Given the description of an element on the screen output the (x, y) to click on. 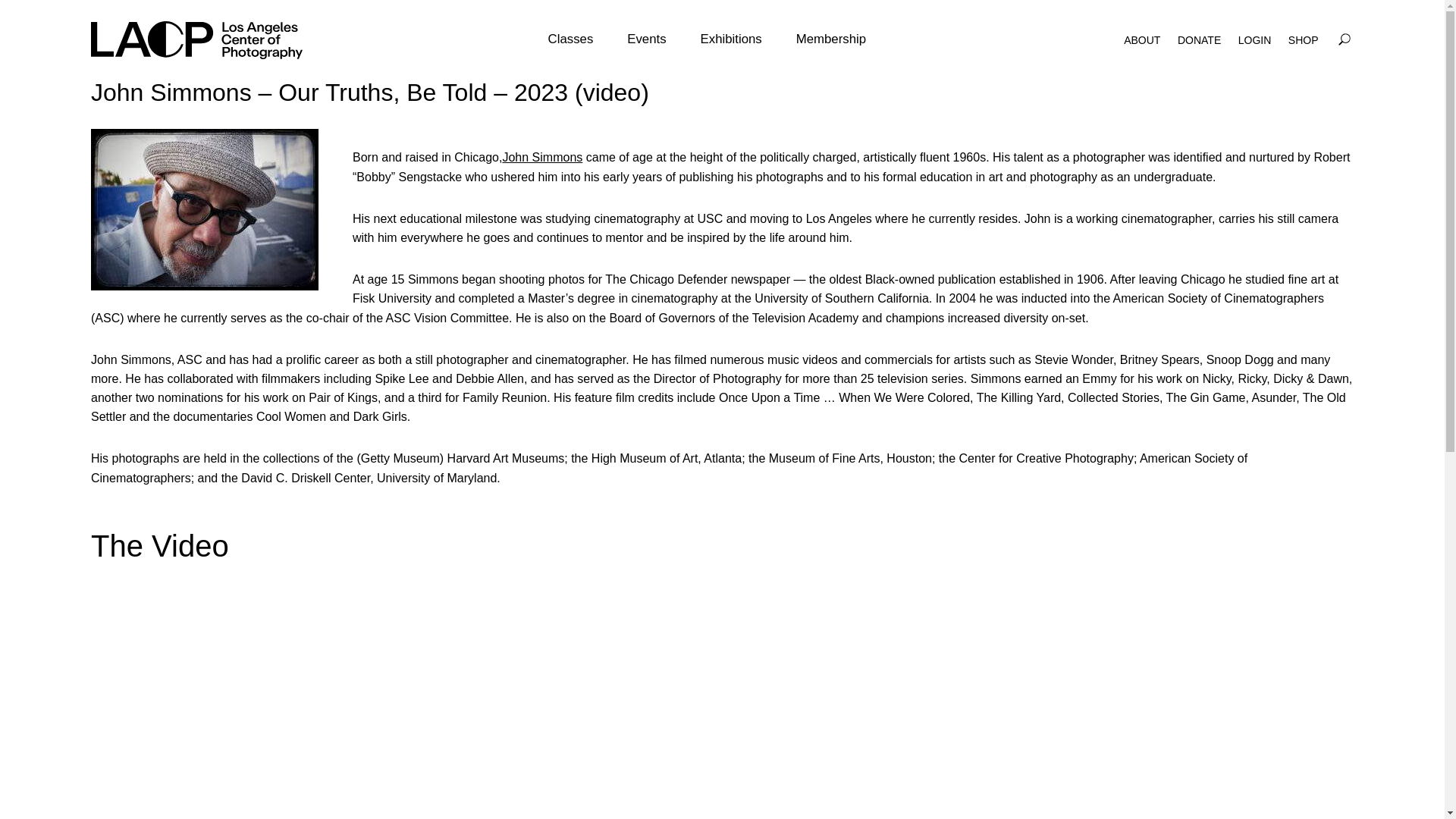
Membership (831, 39)
SHOP (1303, 39)
Events (646, 39)
Classes (571, 39)
The Los Angeles Center of Photography Homepage (198, 39)
Search this site (1344, 39)
LOGIN (1255, 39)
Exhibitions (730, 39)
View the LACP Store (1303, 39)
John Simmons (542, 156)
